Given the description of an element on the screen output the (x, y) to click on. 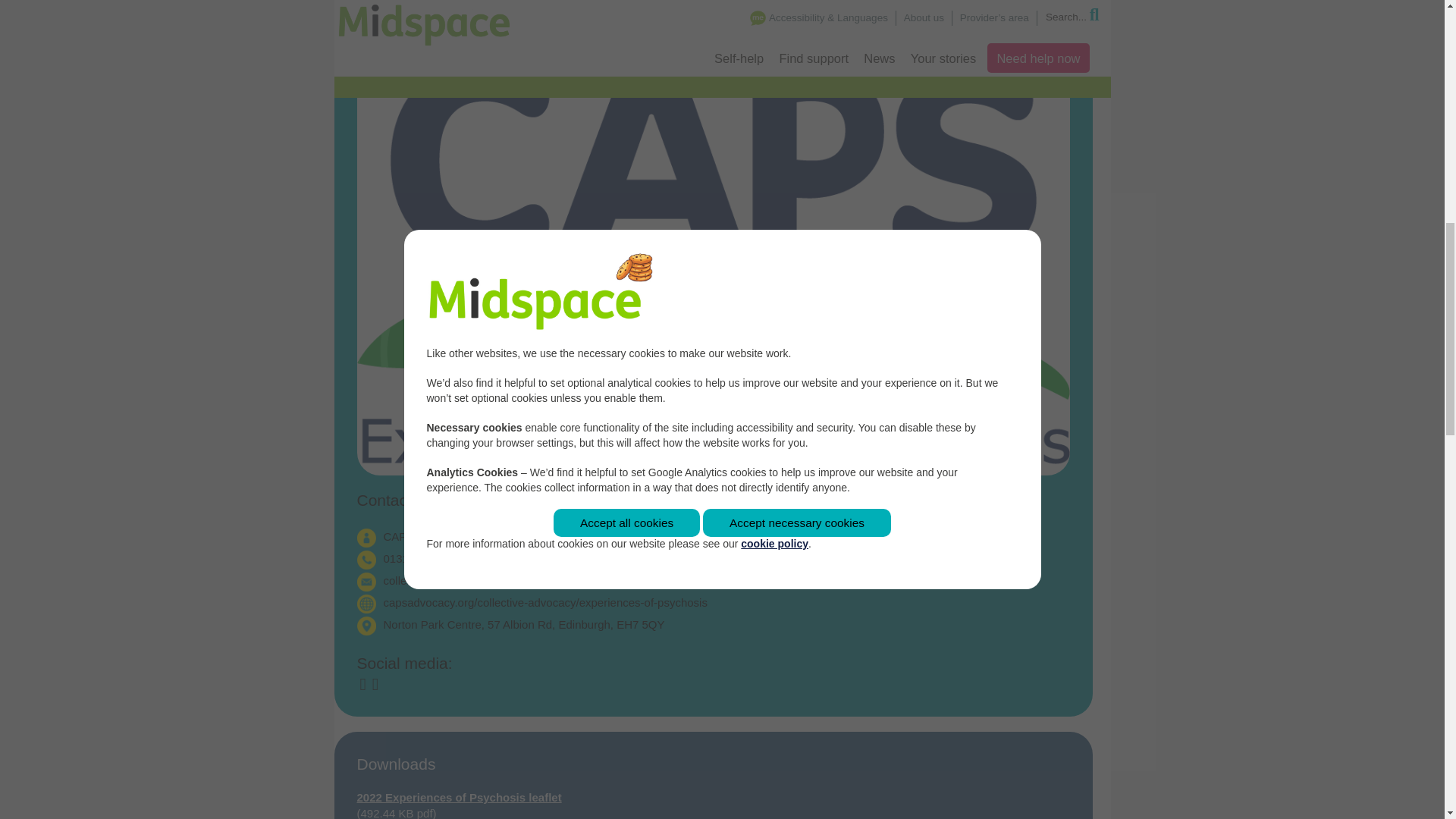
2022 Experiences of Psychosis leaflet (458, 797)
0131 273 5116 (422, 558)
